Given the description of an element on the screen output the (x, y) to click on. 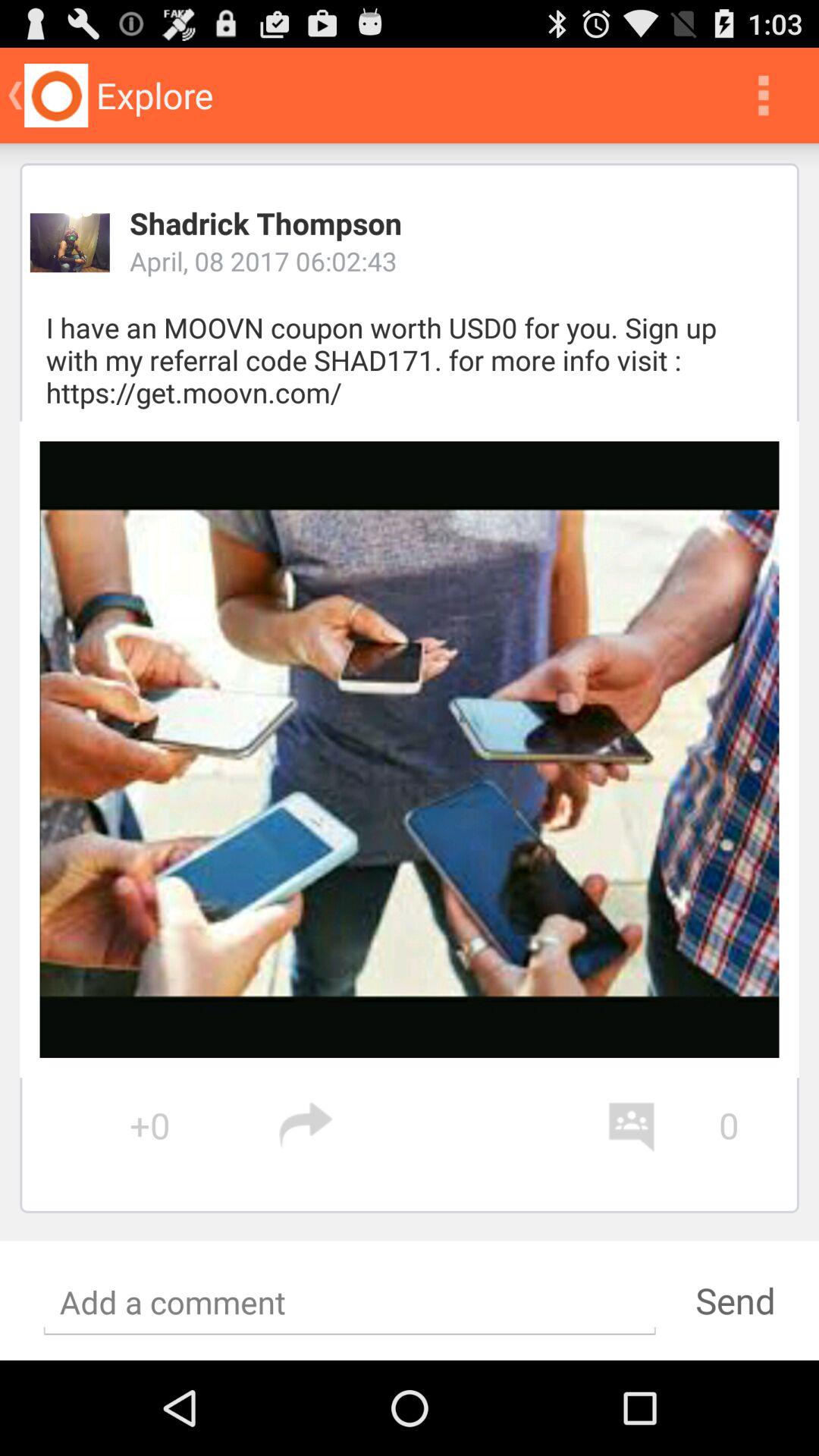
open icon above the shadrick thompson app (763, 95)
